Given the description of an element on the screen output the (x, y) to click on. 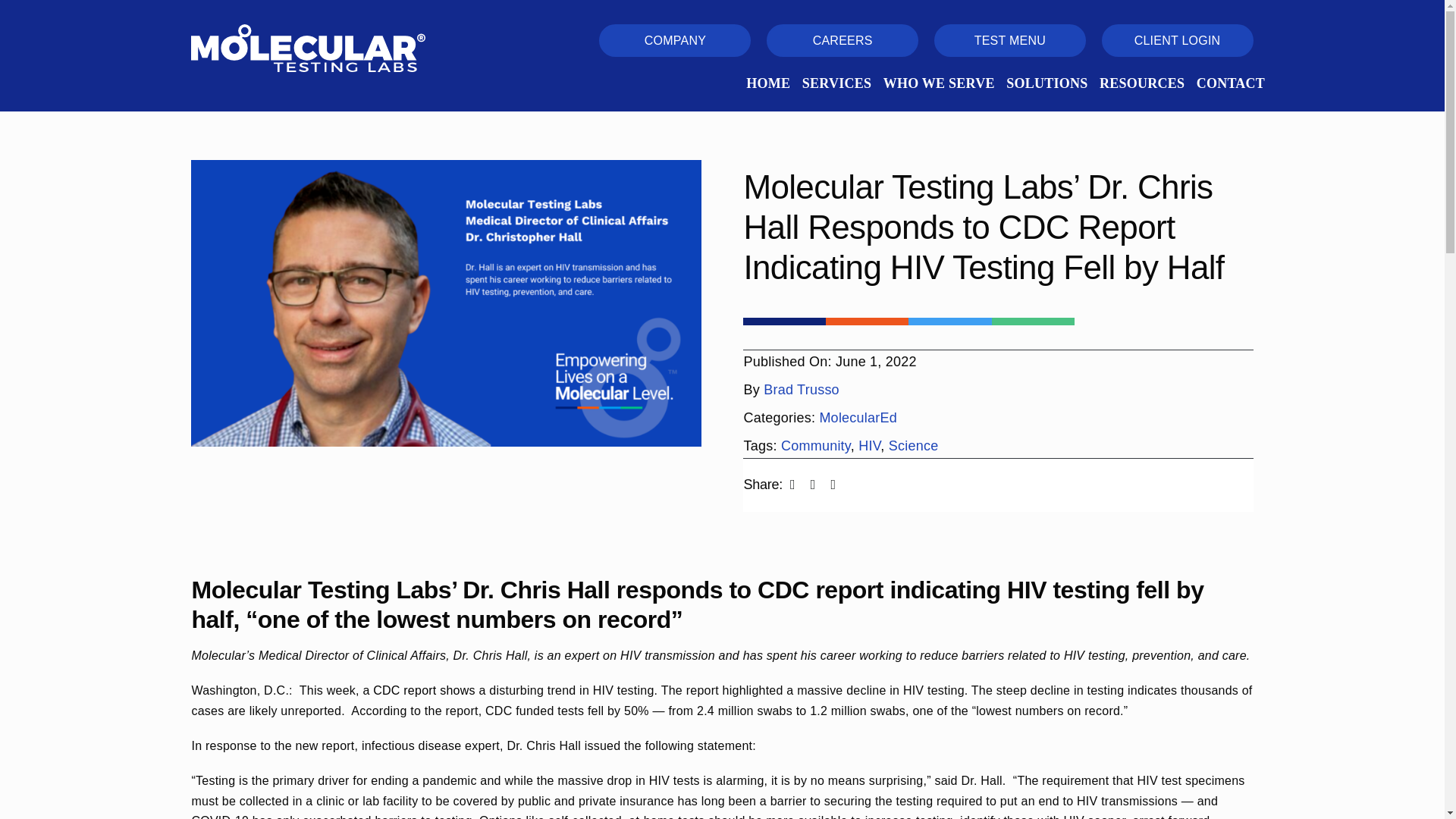
Facebook (793, 485)
Posts by Brad Trusso (801, 389)
WHO WE SERVE (938, 83)
CLIENT LOGIN (1177, 40)
RESOURCES (1142, 83)
COMPANY (674, 40)
CAREERS (842, 40)
SOLUTIONS (1046, 83)
CONTACT (1230, 83)
